Given the description of an element on the screen output the (x, y) to click on. 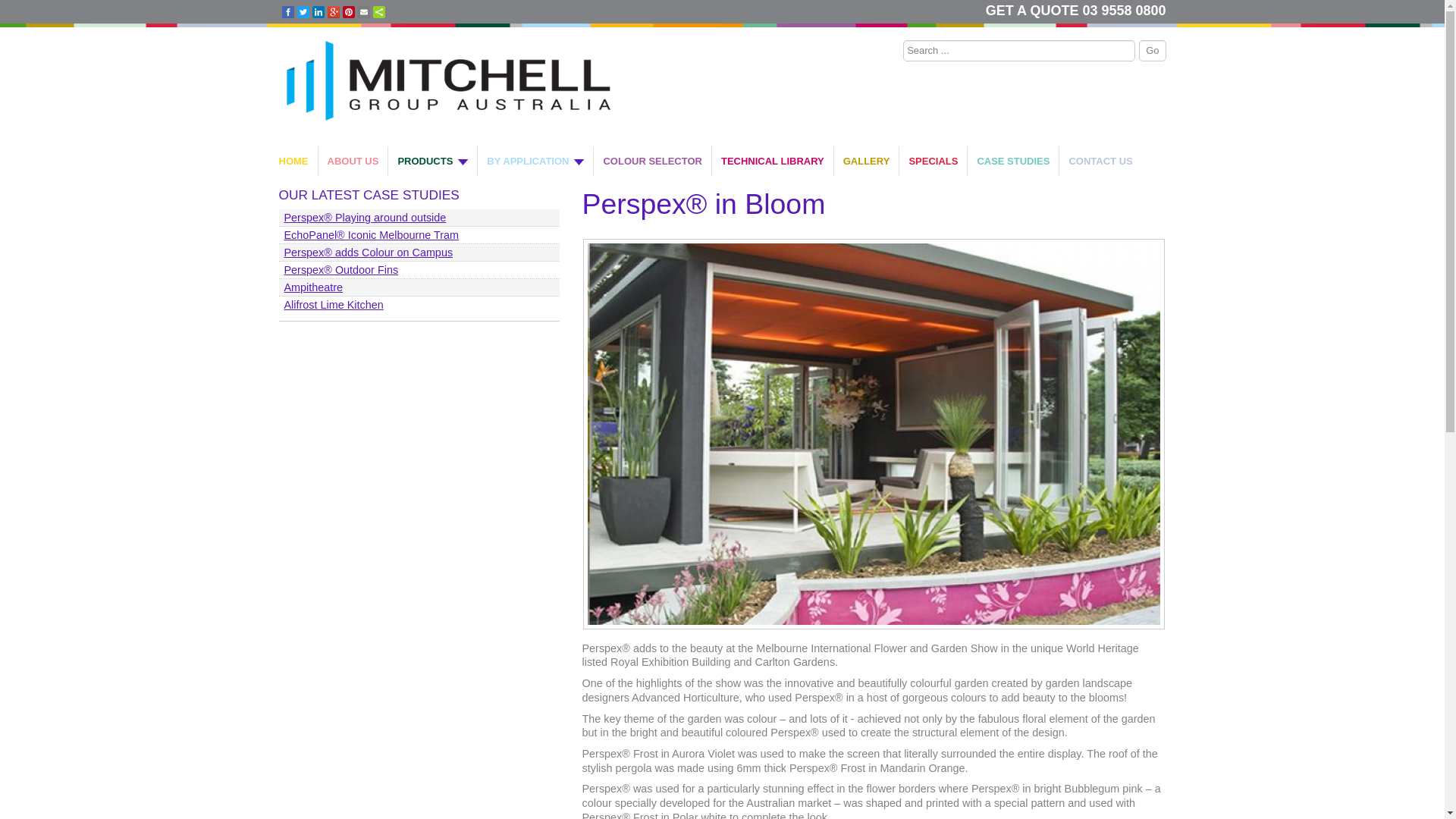
HOME Element type: text (298, 160)
SPECIALS Element type: text (933, 160)
CASE STUDIES Element type: text (1013, 160)
CONTACT US Element type: text (1100, 160)
Alifrost Lime Kitchen Element type: text (419, 304)
ABOUT US Element type: text (353, 160)
Go Element type: text (1152, 50)
GALLERY Element type: text (867, 160)
GET A QUOTE 03 9558 0800 Element type: text (1075, 10)
TECHNICAL LIBRARY Element type: text (773, 160)
COLOUR SELECTOR Element type: text (652, 160)
Ampitheatre Element type: text (419, 287)
